Given the description of an element on the screen output the (x, y) to click on. 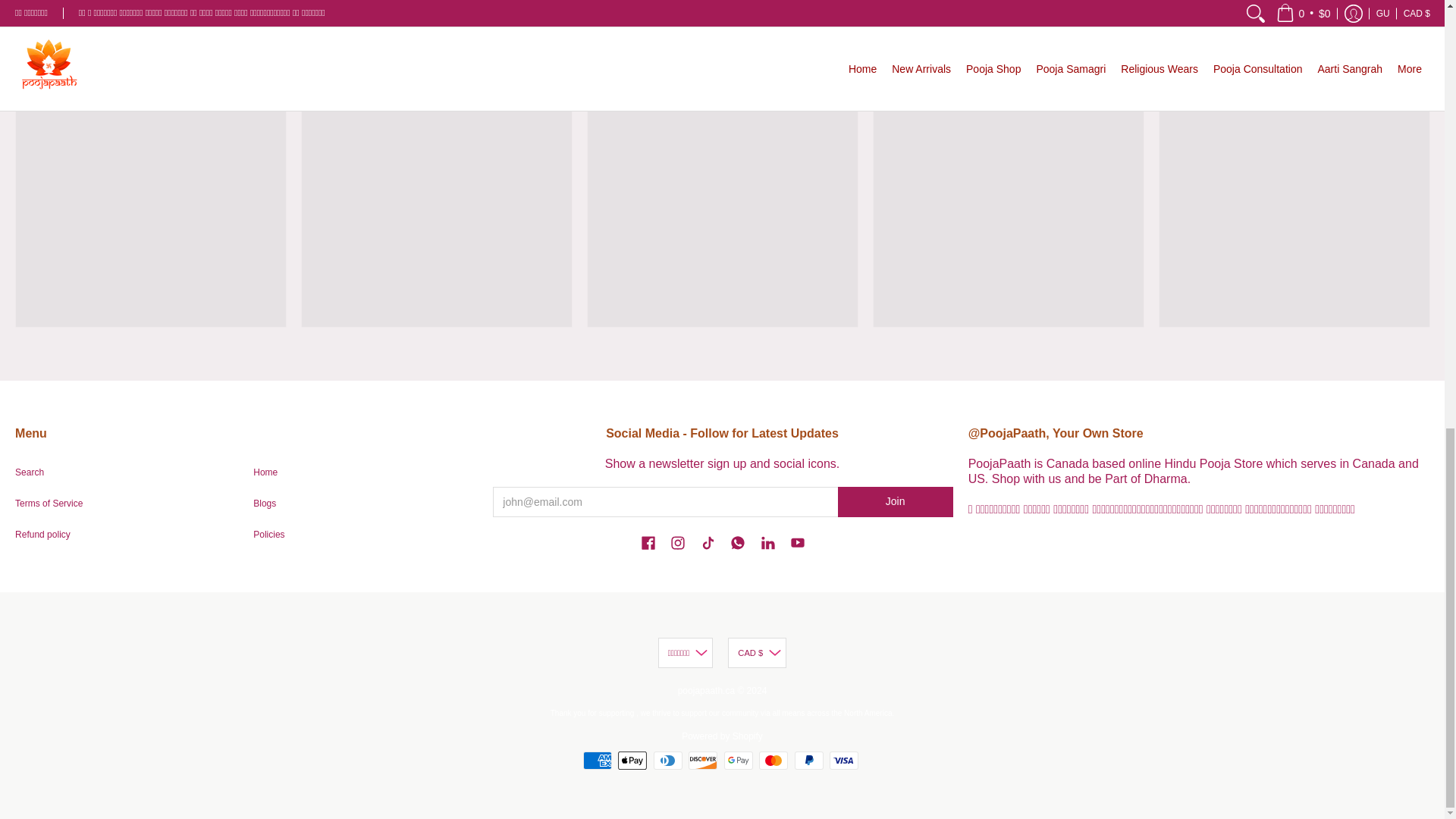
Mastercard (772, 760)
Apple Pay (631, 760)
Google Pay (737, 760)
Join (895, 501)
Diners Club (667, 760)
PayPal (809, 760)
Visa (844, 760)
American Express (597, 760)
Discover (702, 760)
